Given the description of an element on the screen output the (x, y) to click on. 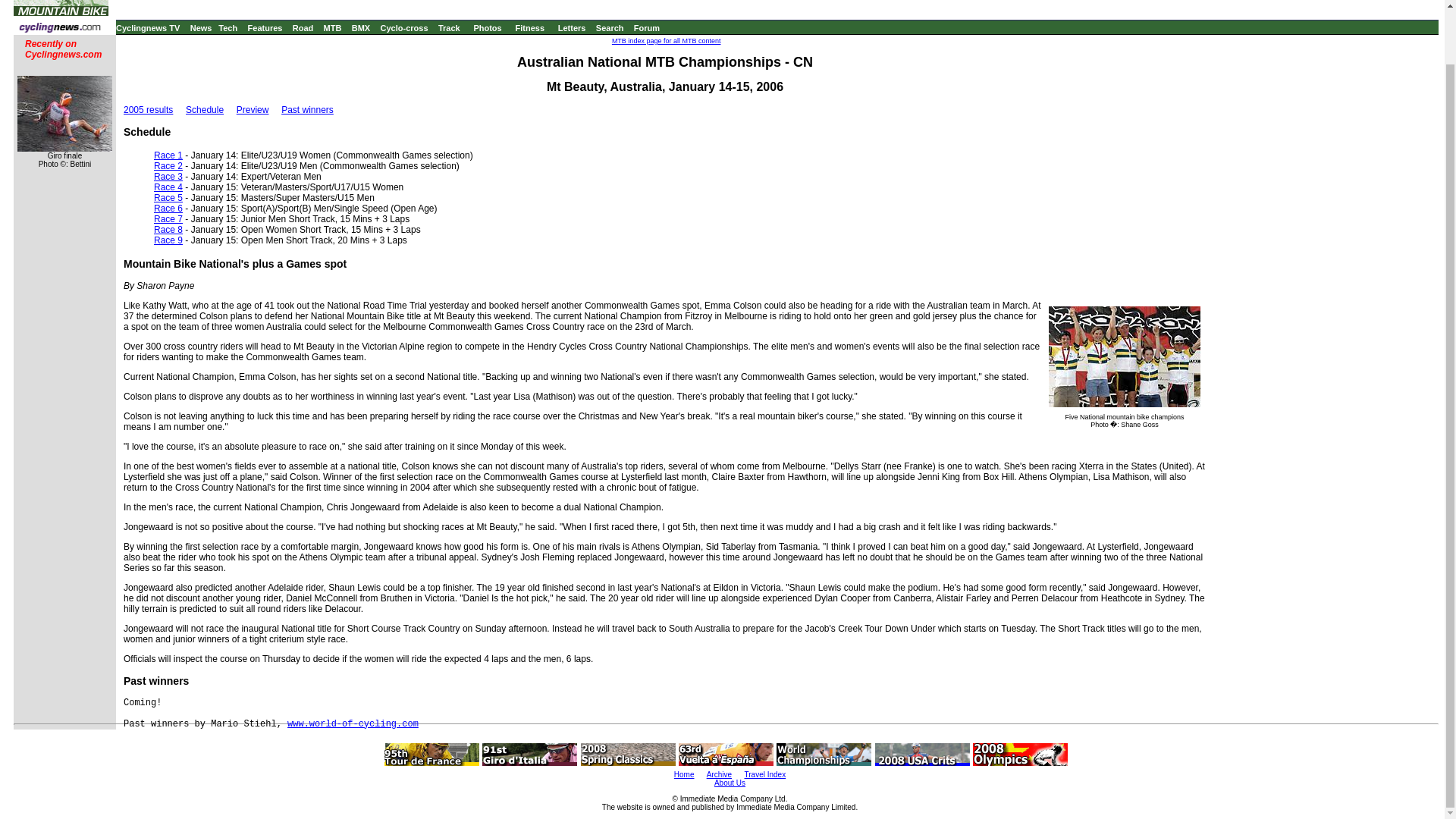
Tech (227, 27)
Schedule (205, 109)
Race 8 (168, 229)
www.world-of-cycling.com (352, 724)
Race 9 (168, 240)
Race 5 (168, 197)
Race 2 (168, 165)
Letters (571, 27)
MTB (332, 27)
Road (303, 27)
